Given the description of an element on the screen output the (x, y) to click on. 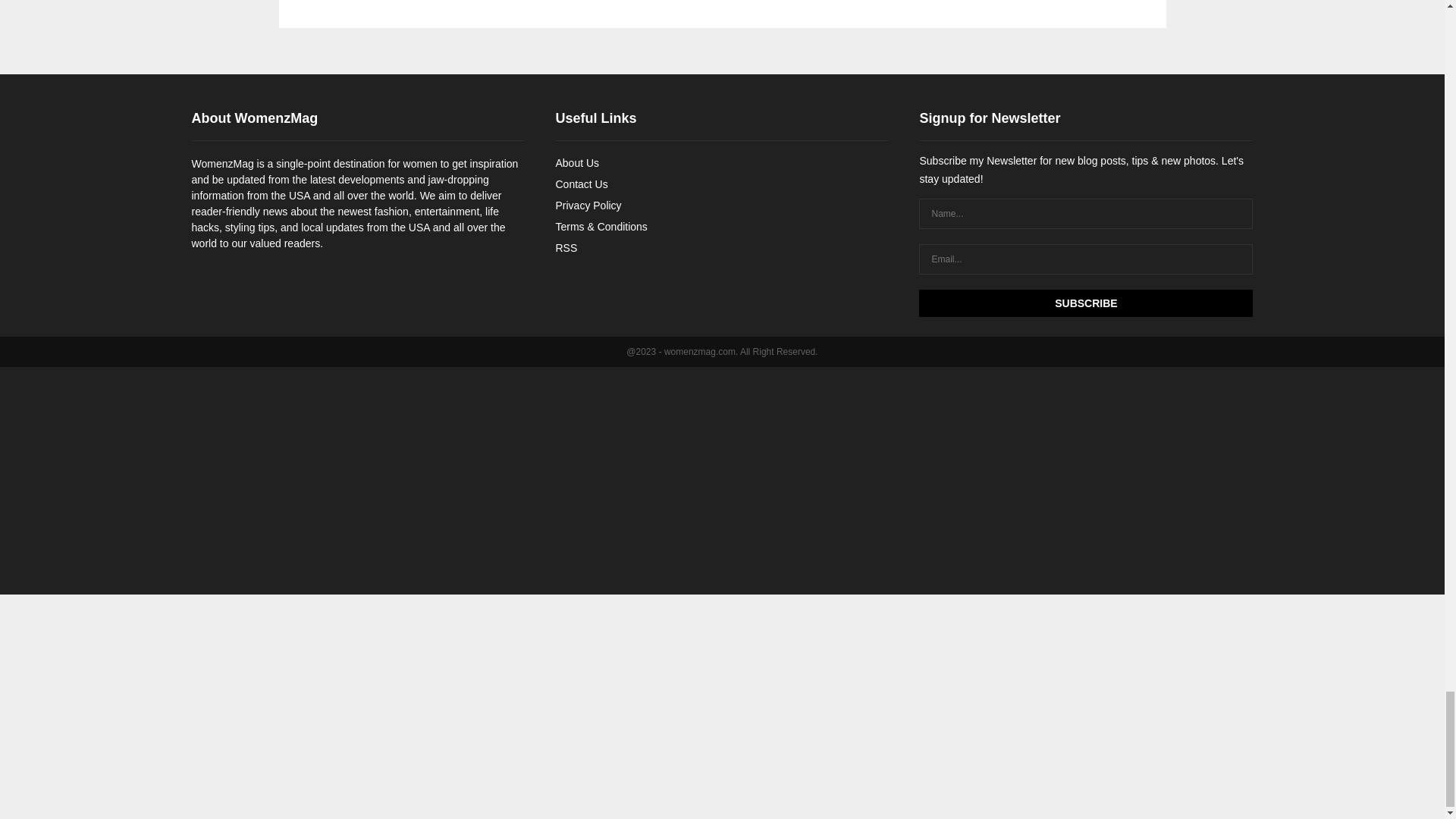
Subscribe (1085, 302)
